Given the description of an element on the screen output the (x, y) to click on. 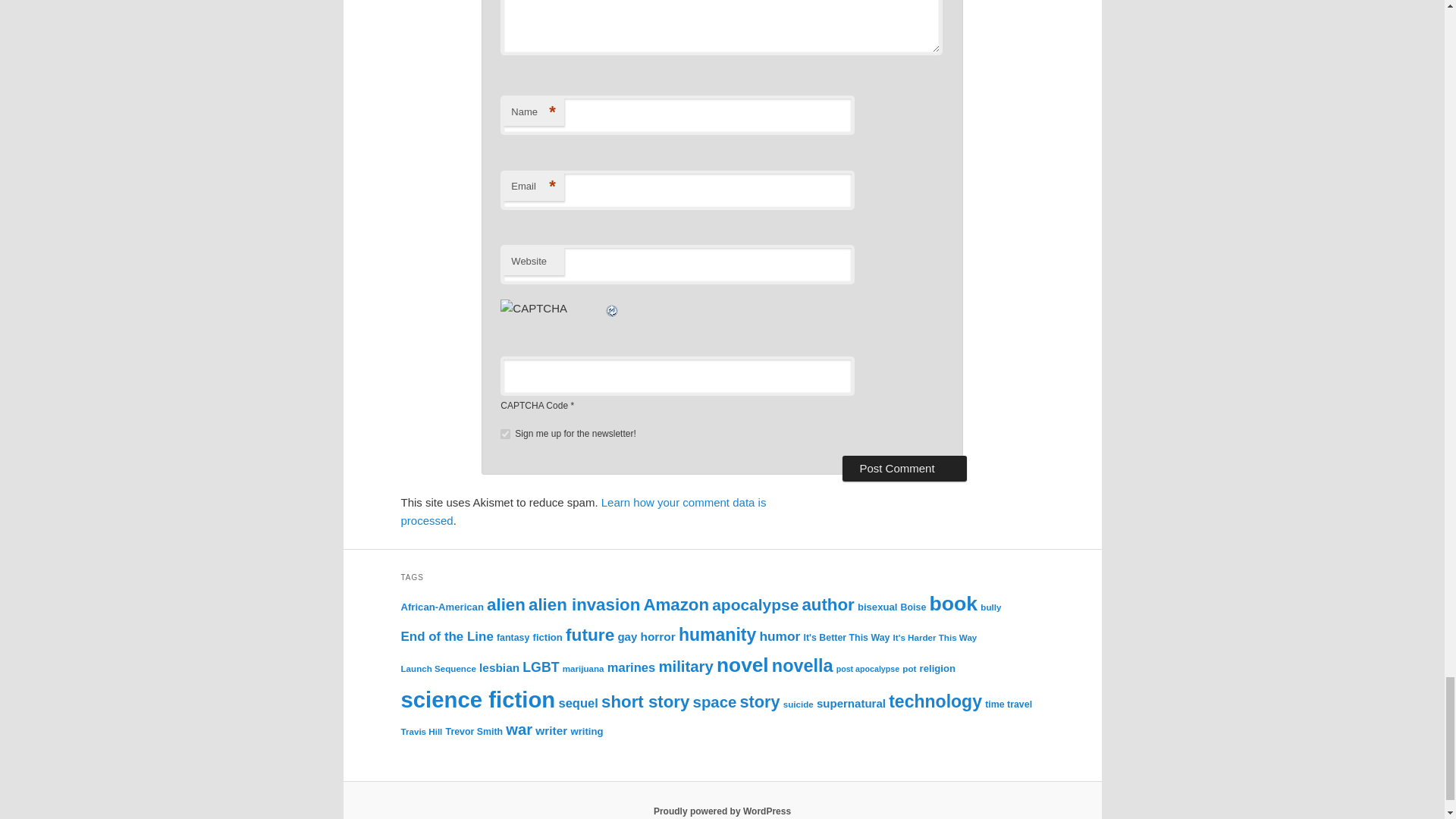
1 (505, 433)
Refresh (612, 308)
Semantic Personal Publishing Platform (721, 810)
CAPTCHA (552, 316)
Post Comment (904, 468)
